Given the description of an element on the screen output the (x, y) to click on. 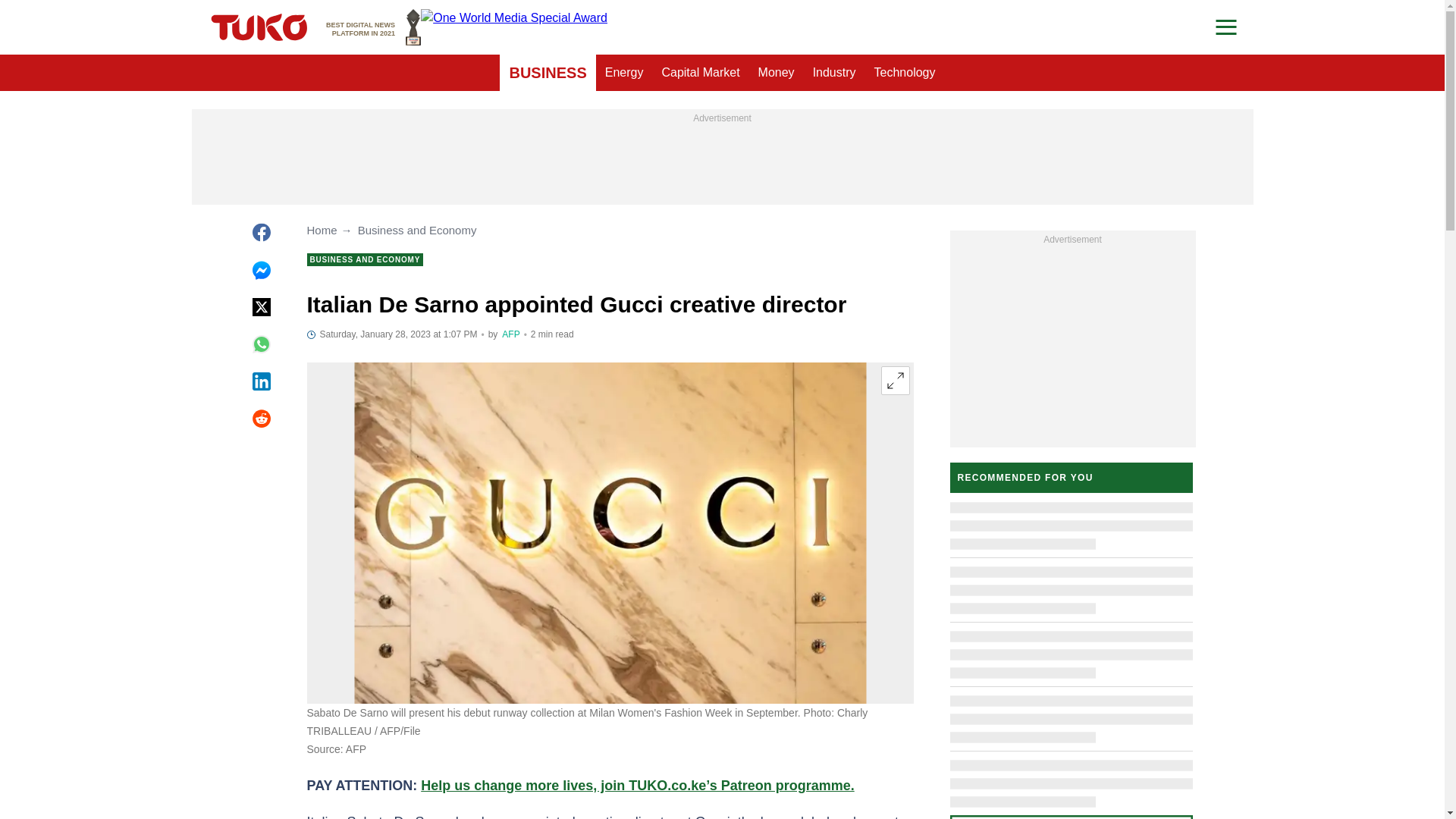
Money (776, 72)
Capital Market (700, 72)
Technology (373, 27)
Industry (904, 72)
BUSINESS (833, 72)
Expand image (547, 72)
Energy (895, 380)
Author page (623, 72)
